Given the description of an element on the screen output the (x, y) to click on. 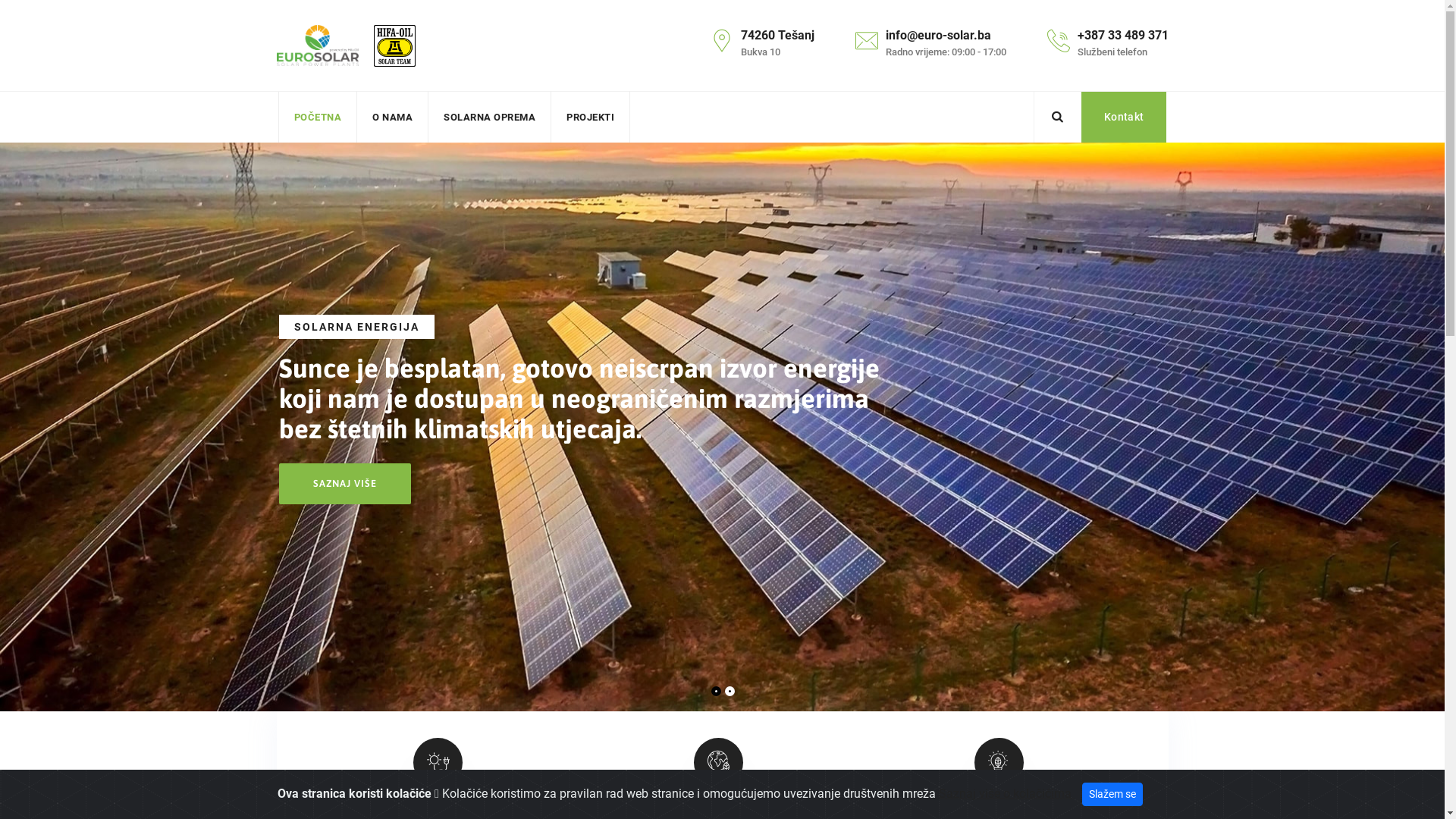
SOLARNA OPREMA Element type: text (489, 116)
O NAMA Element type: text (392, 116)
Kontakt Element type: text (1123, 116)
PROJEKTI Element type: text (590, 116)
